Given the description of an element on the screen output the (x, y) to click on. 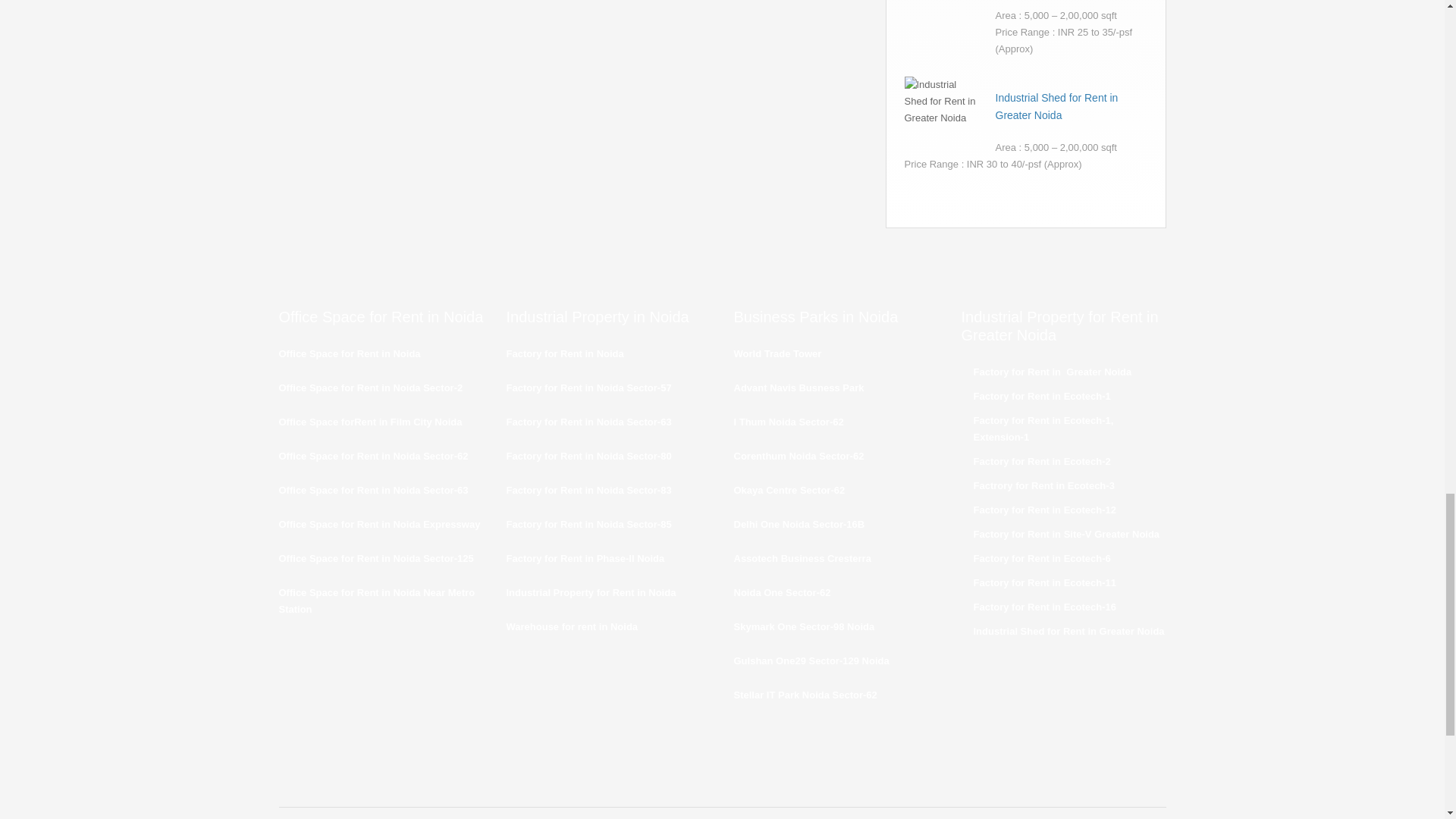
industrial property for sale in noida (588, 455)
Shed for Rent in Noida (585, 558)
industrial property for rent in noida sector 63 (588, 421)
industrial property for rent in noida sector 63 (371, 387)
industrial property for rent in noida (349, 353)
industrial property for sale in noida (371, 421)
industrial property for rent in noida (565, 353)
